Given the description of an element on the screen output the (x, y) to click on. 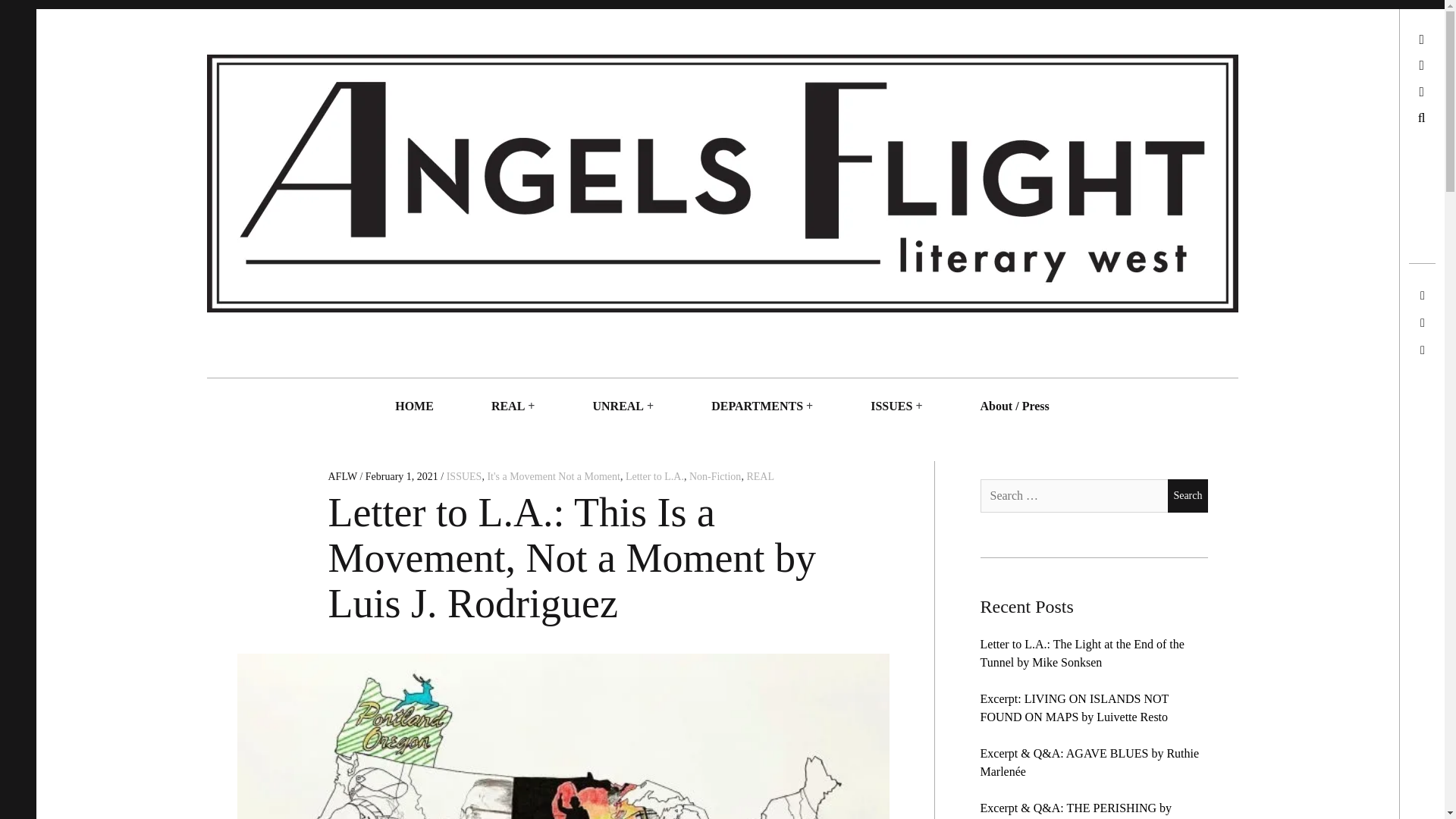
Search (1187, 495)
ISSUES (891, 406)
REAL (759, 476)
ISSUES (463, 476)
UNREAL (617, 406)
REAL (507, 406)
It's a Movement Not a Moment (553, 476)
AFLW (343, 476)
HOME (414, 406)
DEPARTMENTS (756, 406)
Search (1187, 495)
February 1, 2021 (401, 476)
Non-Fiction (714, 476)
Letter to L.A. (655, 476)
